Given the description of an element on the screen output the (x, y) to click on. 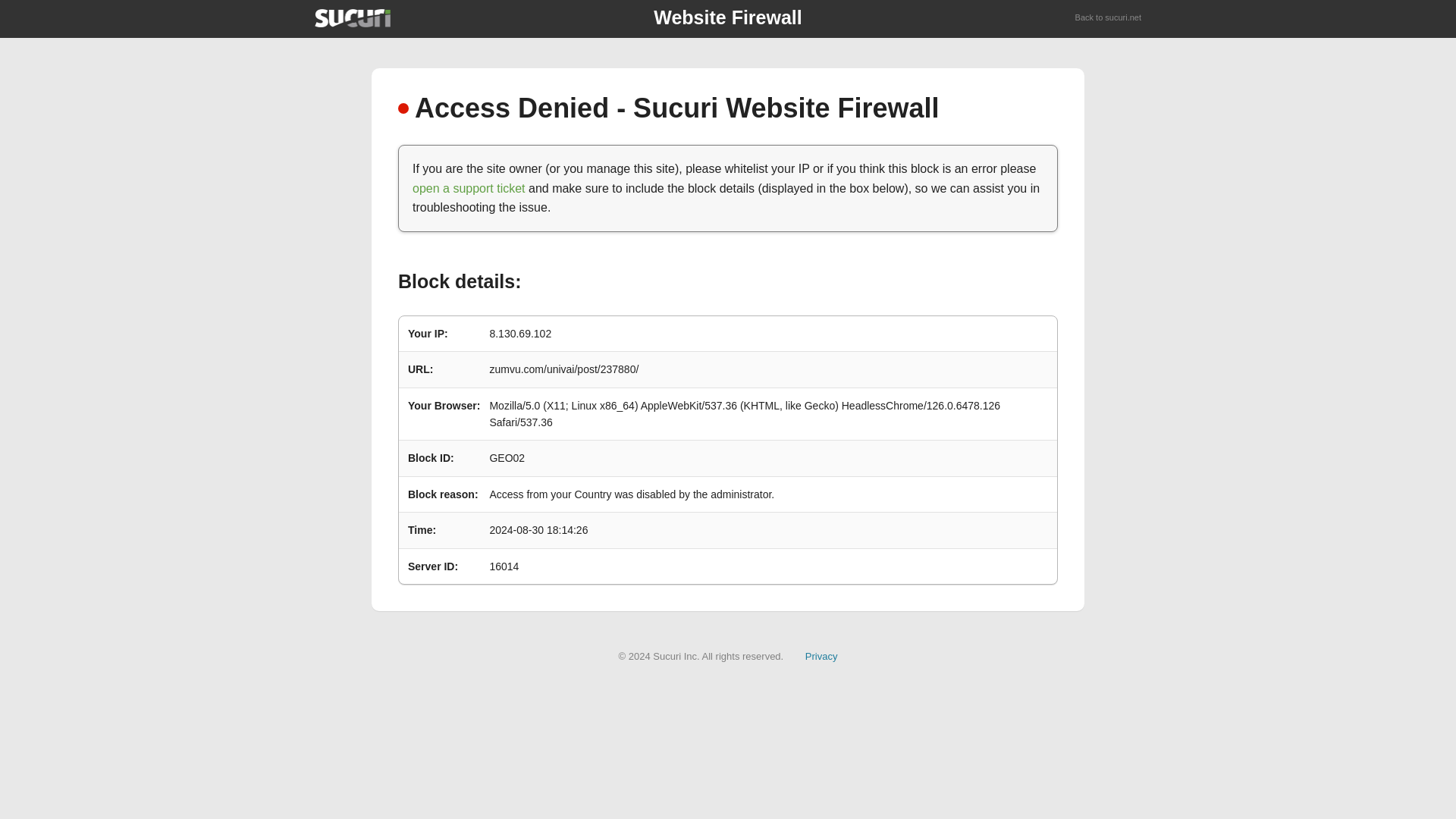
Privacy (821, 655)
open a support ticket (468, 187)
Back to sucuri.net (1108, 18)
